Given the description of an element on the screen output the (x, y) to click on. 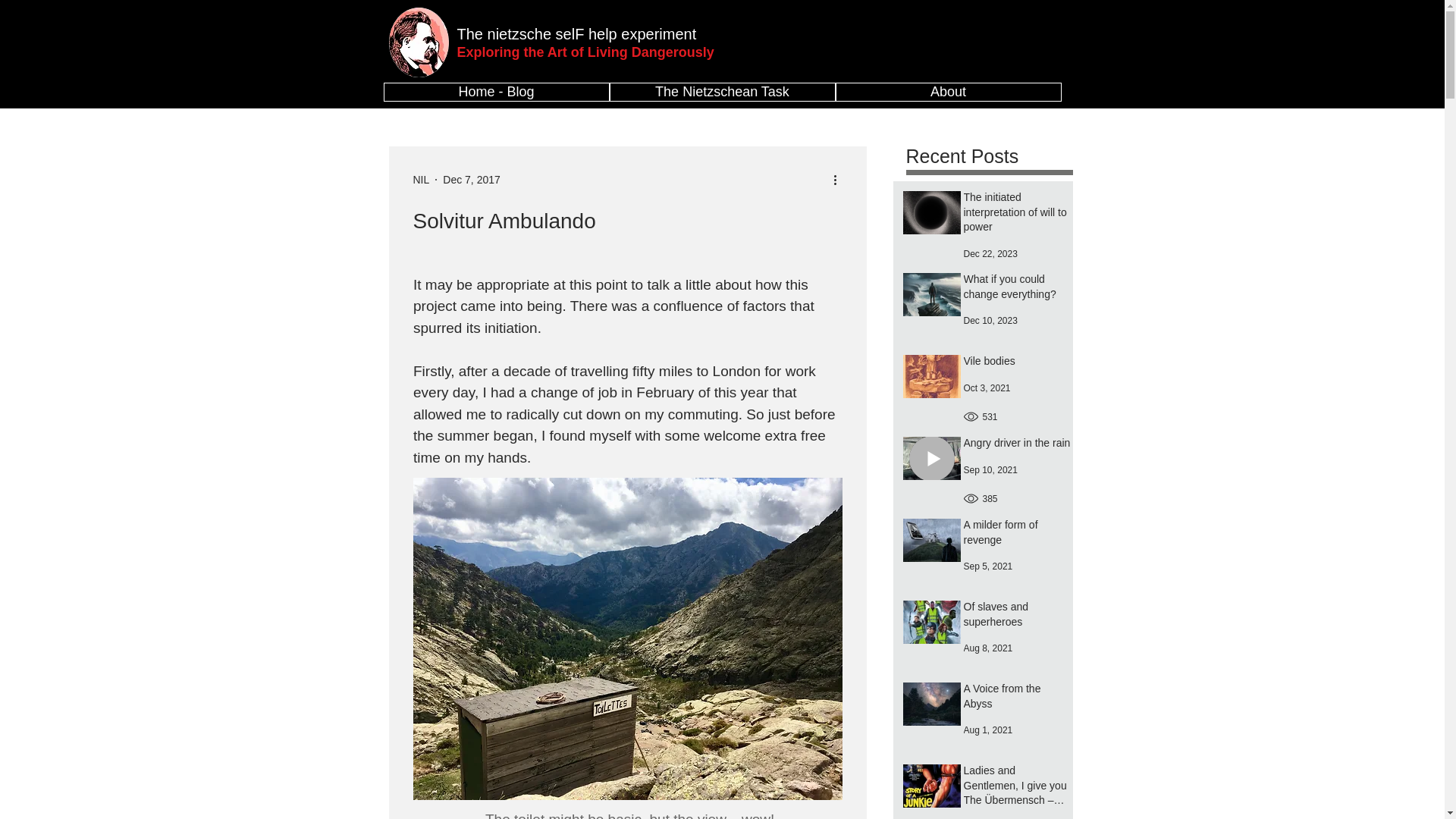
Oct 3, 2021 (986, 388)
Dec 7, 2017 (471, 178)
A Voice from the Abyss (1016, 699)
About (948, 91)
Dec 10, 2023 (989, 320)
The Nietzschean Task (722, 91)
Sep 5, 2021 (986, 566)
Of slaves and superheroes (1016, 617)
Aug 1, 2021 (986, 729)
Dec 22, 2023 (989, 253)
What if you could change everything? (1016, 289)
Angry driver in the rain (1016, 446)
The initiated interpretation of will to power (1016, 215)
A milder form of revenge (1016, 535)
Home - Blog (497, 91)
